Given the description of an element on the screen output the (x, y) to click on. 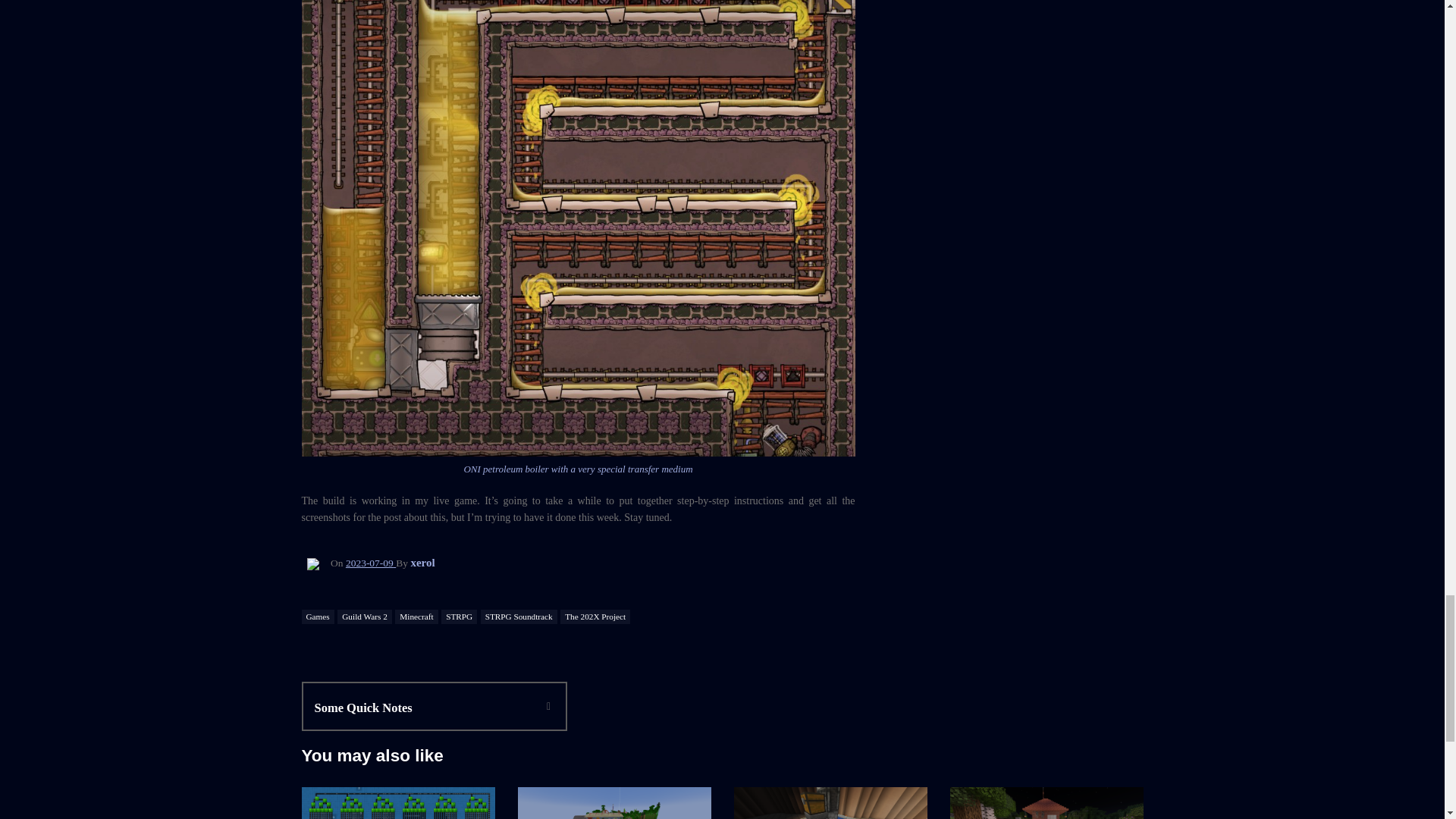
The 202X Project (422, 708)
STRPG (595, 616)
Guild Wars 2 (459, 616)
Games (364, 616)
2023-07-09 (317, 616)
Minecraft (371, 562)
STRPG Soundtrack (416, 616)
xerol (518, 616)
